Given the description of an element on the screen output the (x, y) to click on. 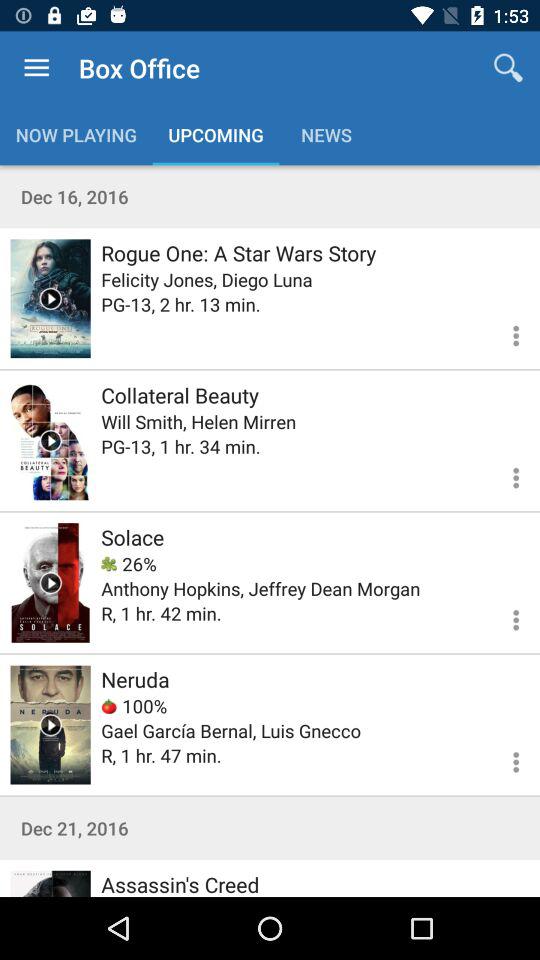
click icon above the pg 13 2 icon (206, 279)
